Given the description of an element on the screen output the (x, y) to click on. 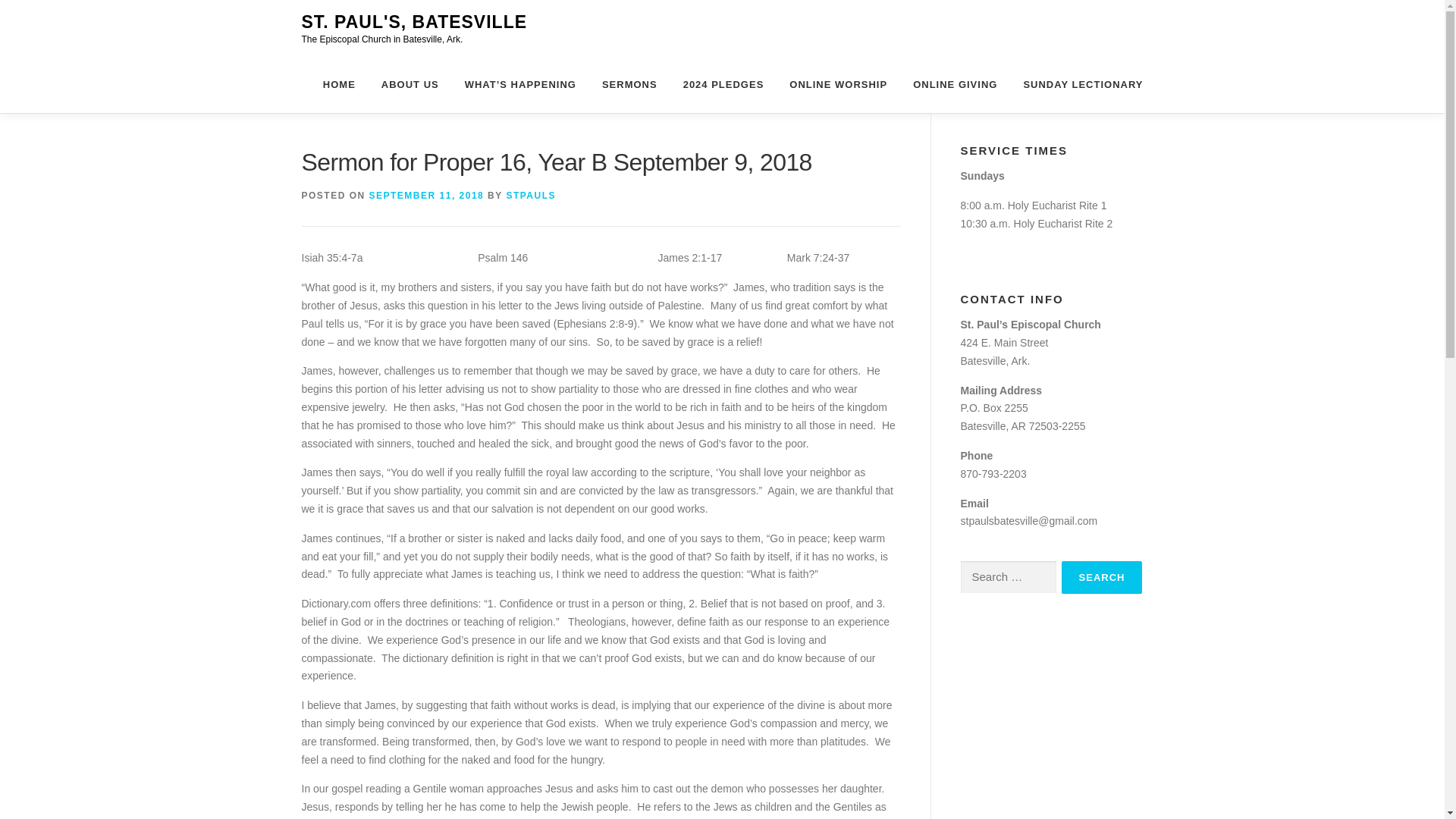
ONLINE GIVING (954, 84)
SUNDAY LECTIONARY (1076, 84)
STPAULS (530, 195)
Search (1101, 577)
ST. PAUL'S, BATESVILLE (414, 21)
SERMONS (629, 84)
ONLINE WORSHIP (837, 84)
2024 PLEDGES (723, 84)
Search (1101, 577)
HOME (339, 84)
ABOUT US (409, 84)
Search (1101, 577)
SEPTEMBER 11, 2018 (426, 195)
